Given the description of an element on the screen output the (x, y) to click on. 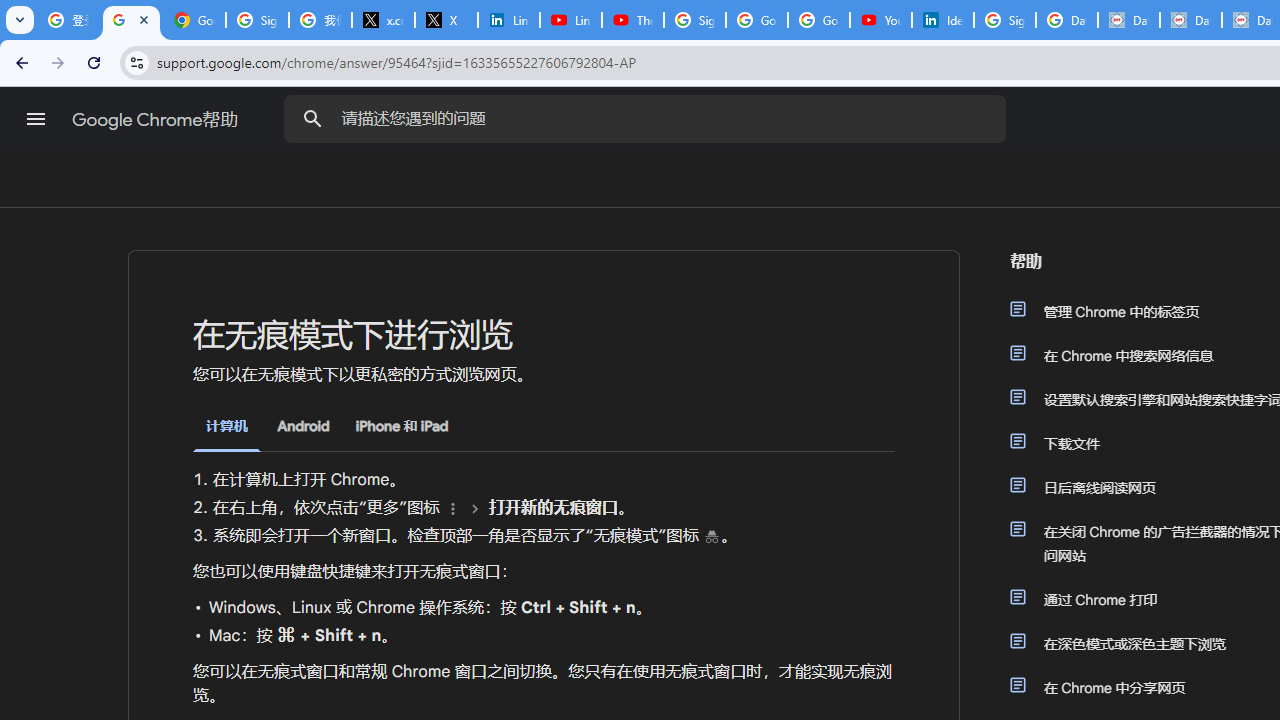
Sign in - Google Accounts (694, 20)
